Given the description of an element on the screen output the (x, y) to click on. 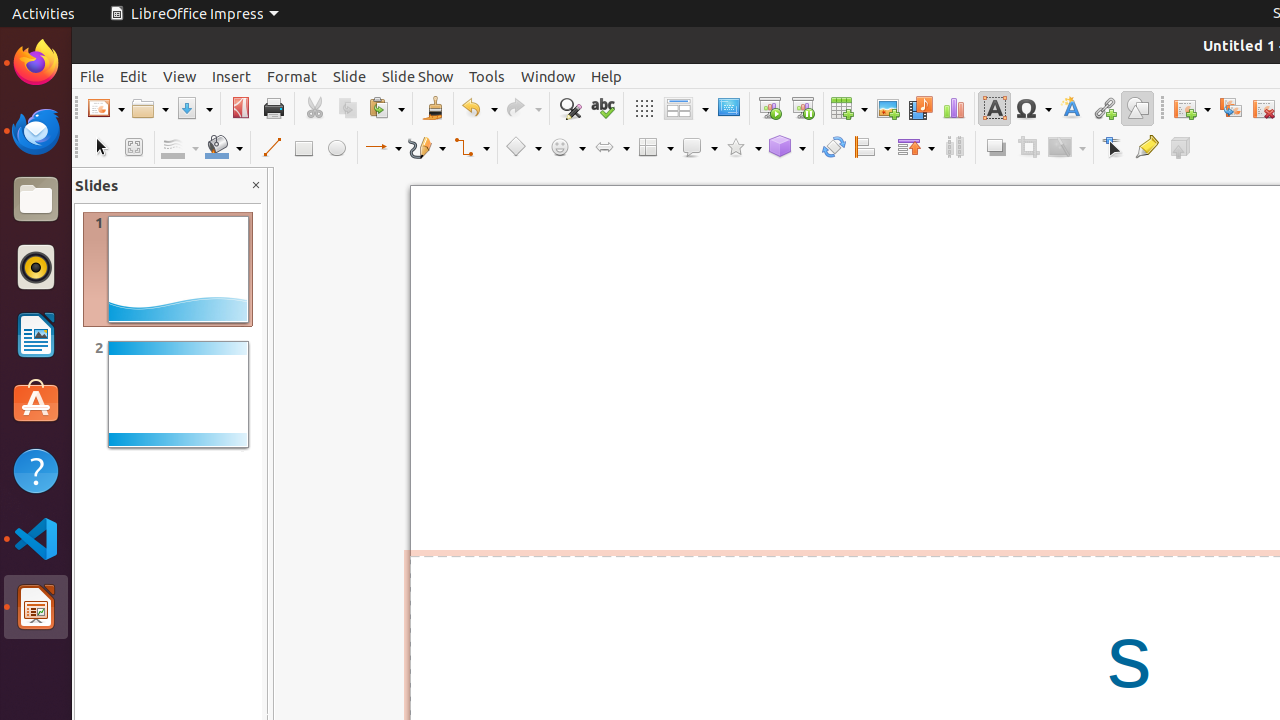
LibreOffice Impress Element type: push-button (36, 607)
Paste Element type: push-button (386, 108)
Fontwork Style Element type: toggle-button (1071, 108)
Arrow Shapes Element type: push-button (611, 147)
View Element type: menu (179, 76)
